Given the description of an element on the screen output the (x, y) to click on. 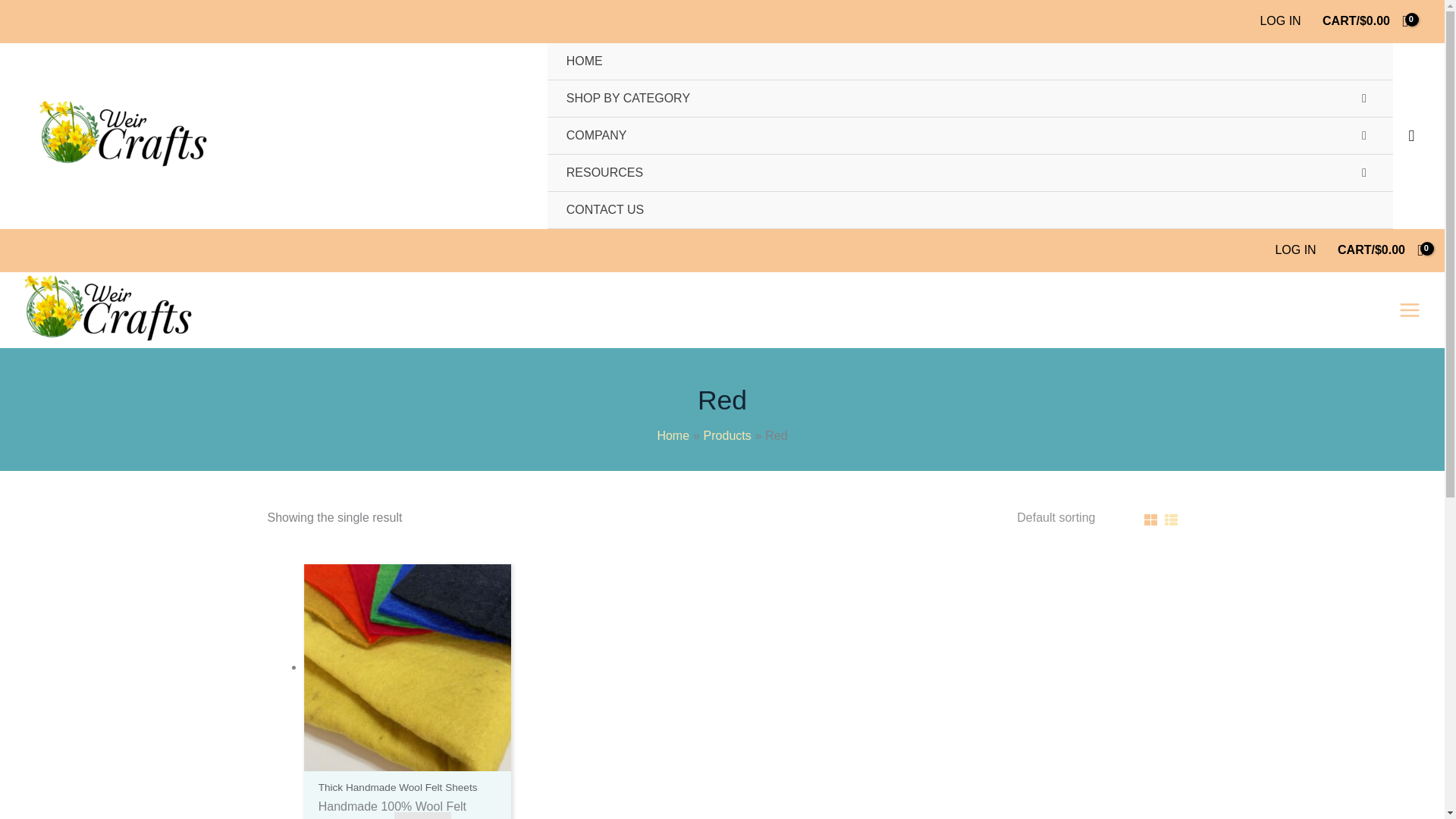
LOG IN (1279, 20)
HOME (970, 61)
COMPANY (970, 135)
SHOP BY CATEGORY (970, 98)
